Given the description of an element on the screen output the (x, y) to click on. 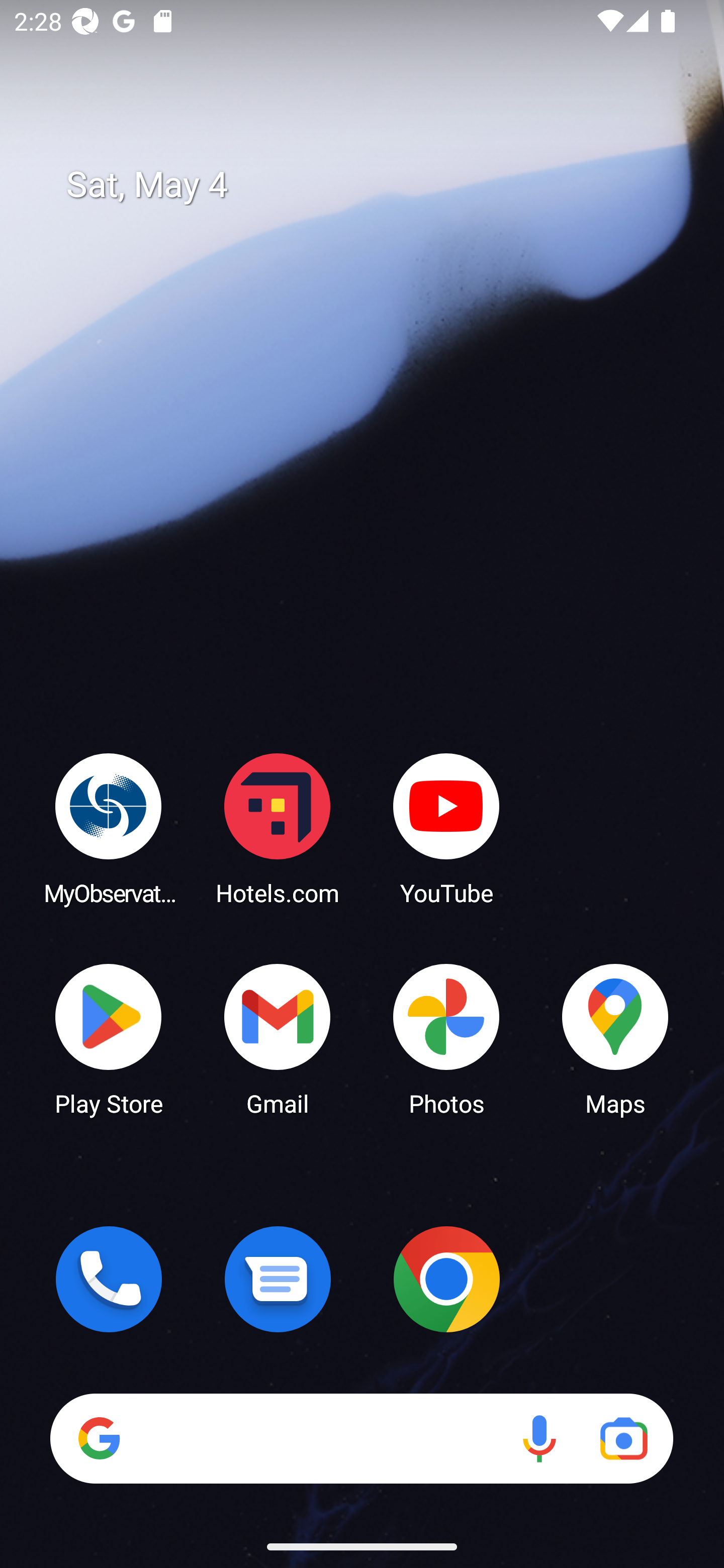
Sat, May 4 (375, 184)
MyObservatory (108, 828)
Hotels.com (277, 828)
YouTube (445, 828)
Play Store (108, 1038)
Gmail (277, 1038)
Photos (445, 1038)
Maps (615, 1038)
Phone (108, 1279)
Messages (277, 1279)
Chrome (446, 1279)
Search Voice search Google Lens (361, 1438)
Voice search (539, 1438)
Google Lens (623, 1438)
